Given the description of an element on the screen output the (x, y) to click on. 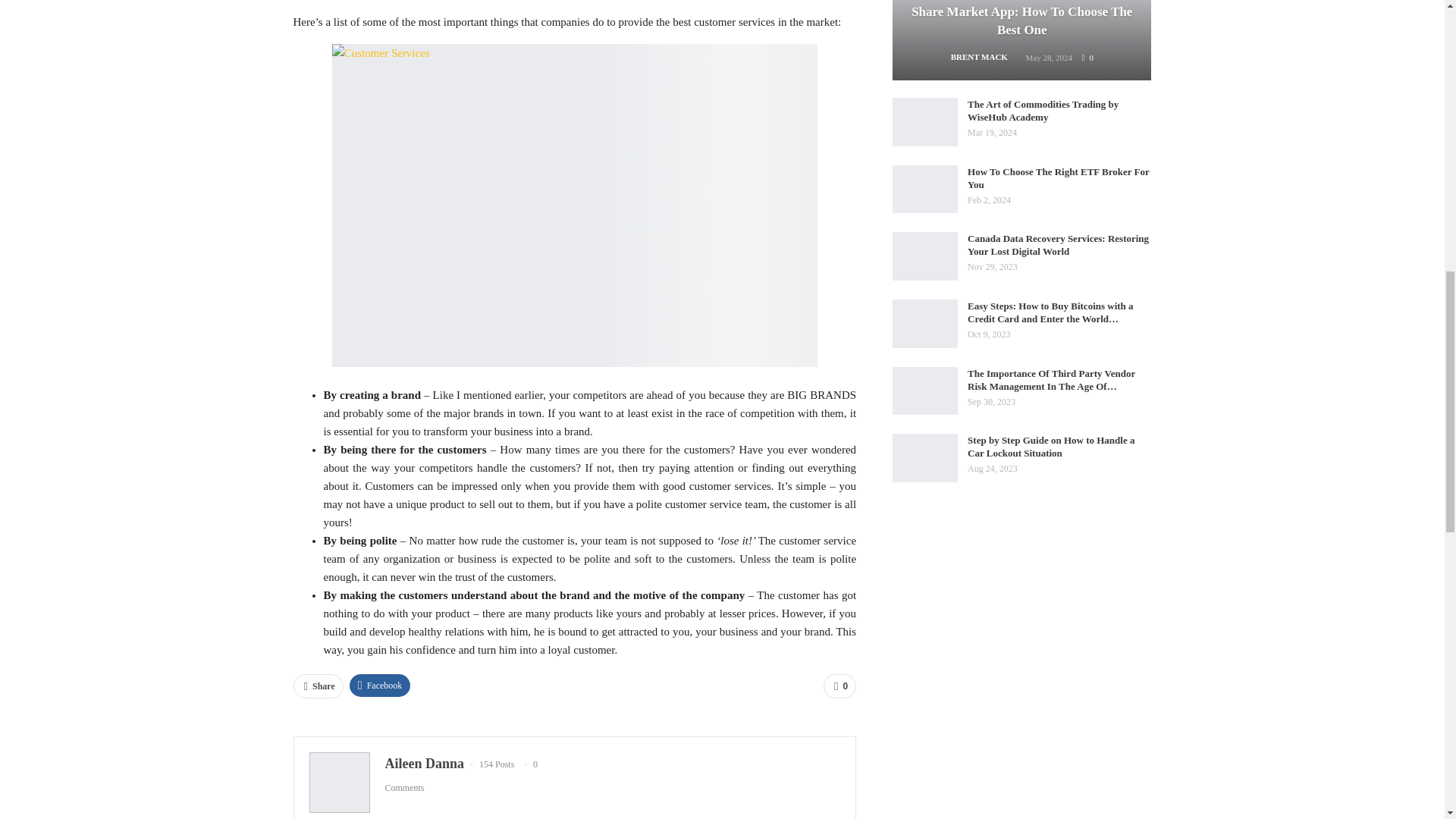
0 (840, 686)
Aileen Danna (424, 763)
Share Market App: How To Choose The Best One (1022, 40)
Facebook (379, 685)
